Given the description of an element on the screen output the (x, y) to click on. 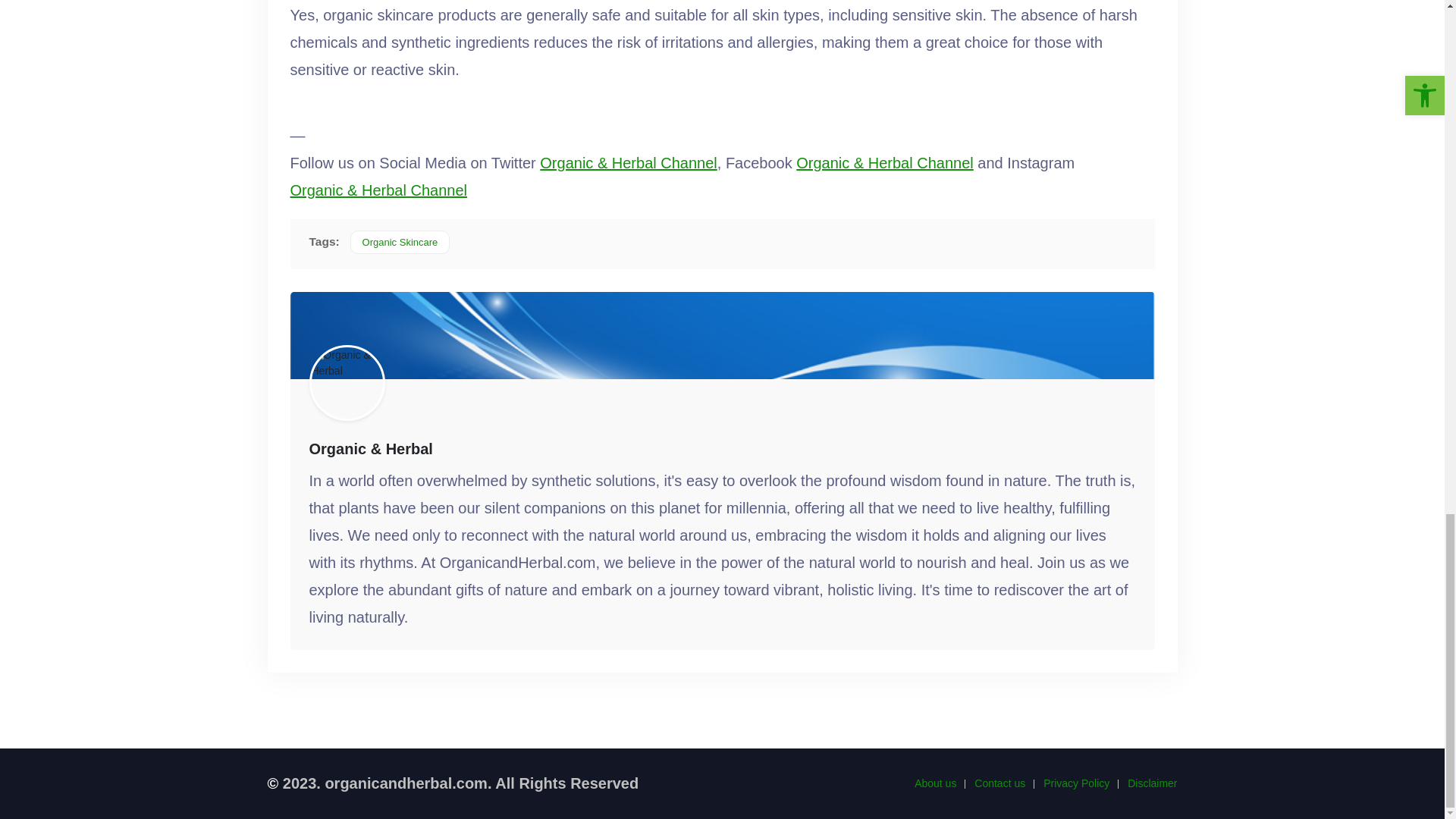
Contact us (999, 783)
Organic Skincare (399, 241)
Disclaimer (1151, 783)
Privacy Policy (1076, 783)
About us (935, 783)
